Given the description of an element on the screen output the (x, y) to click on. 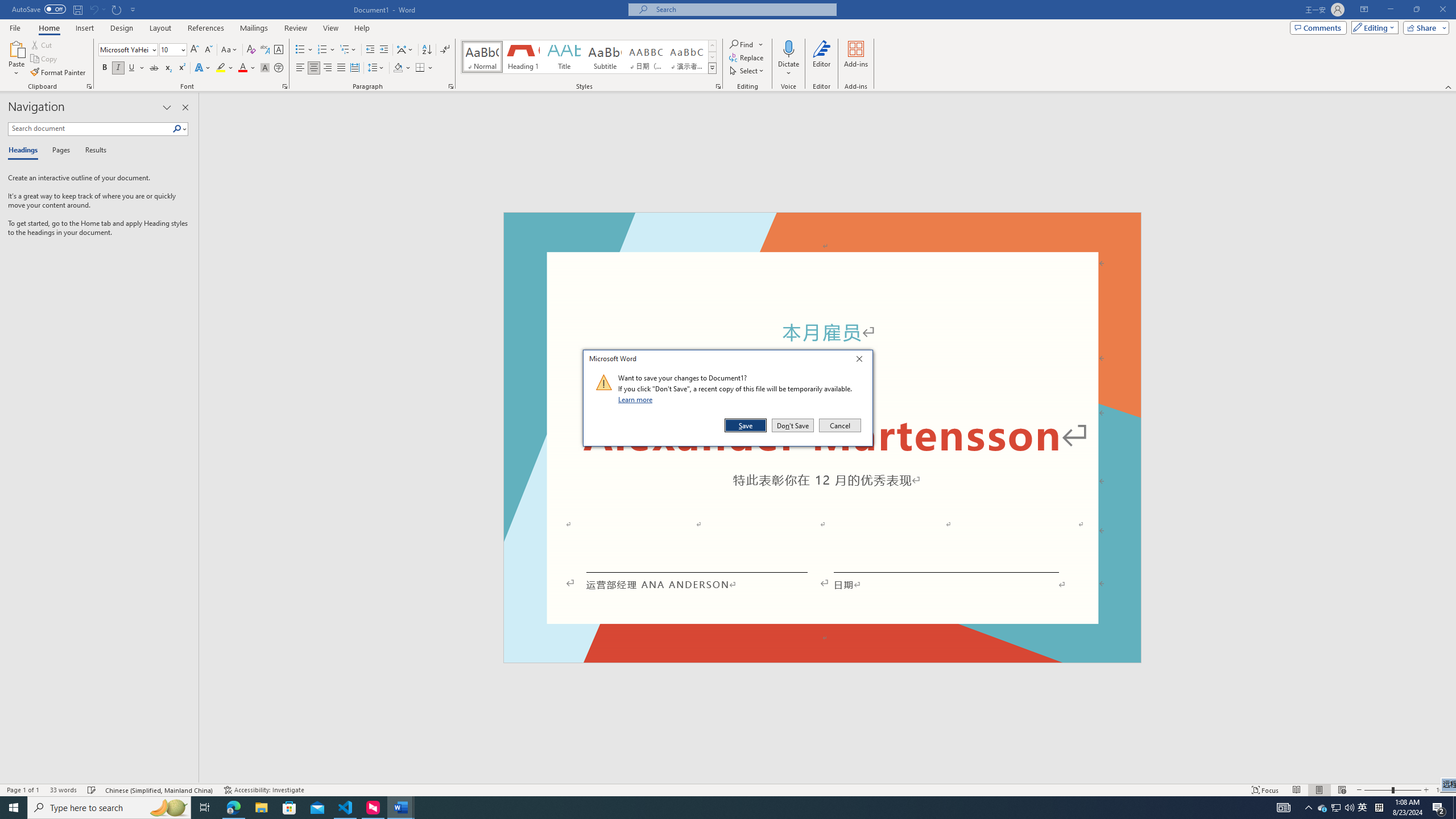
Text Highlight Color (224, 67)
Decrease Indent (370, 49)
Row Down (711, 56)
Justify (340, 67)
Subtitle (605, 56)
Center (313, 67)
Line and Paragraph Spacing (376, 67)
Title (564, 56)
Microsoft search (742, 9)
Footer -Section 1- (822, 657)
Grow Font (193, 49)
AutomationID: QuickStylesGallery (588, 56)
